Given the description of an element on the screen output the (x, y) to click on. 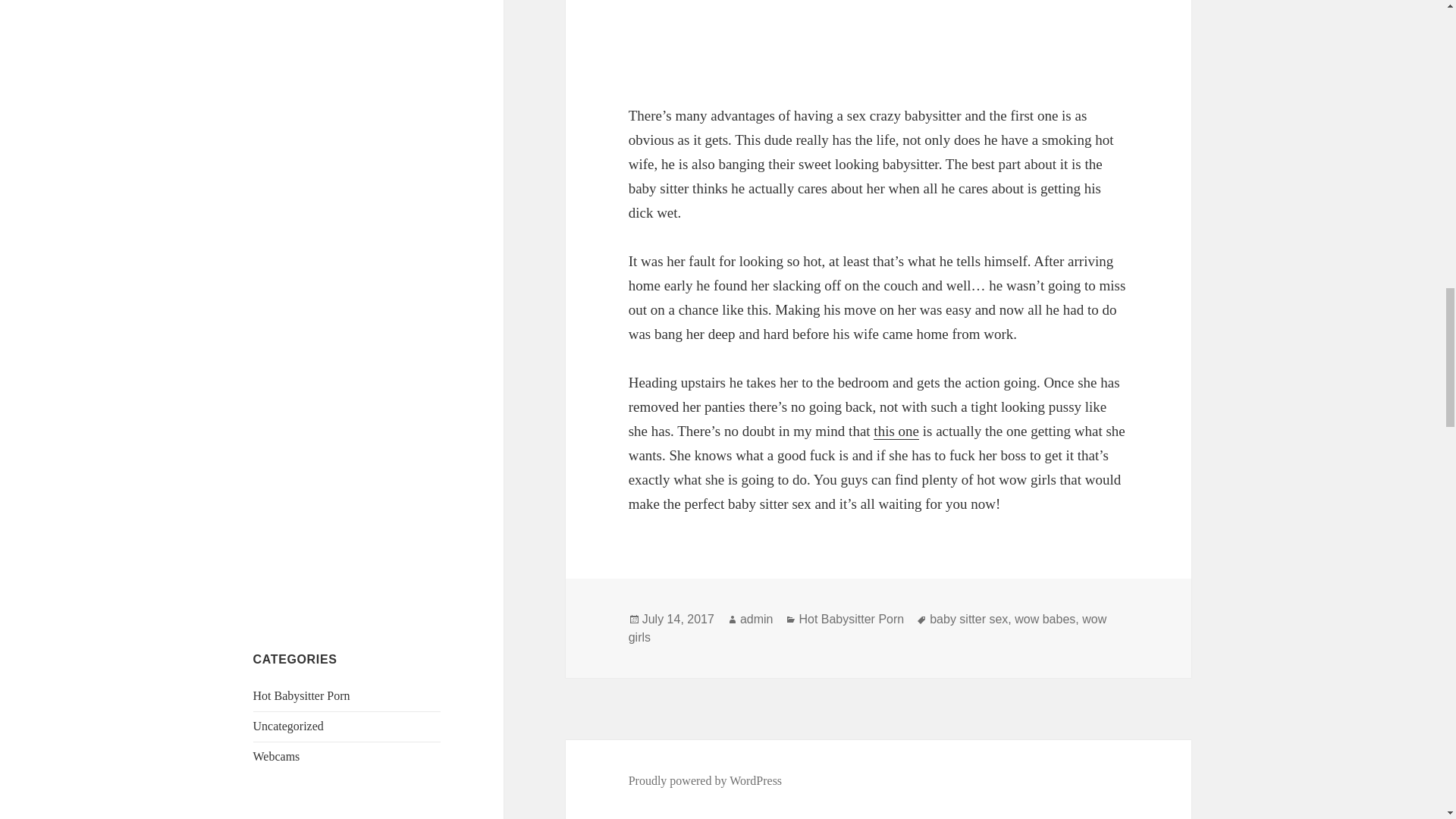
Webcams (276, 756)
Uncategorized (288, 725)
Hot Babysitter Porn (301, 695)
this one (895, 431)
